Given the description of an element on the screen output the (x, y) to click on. 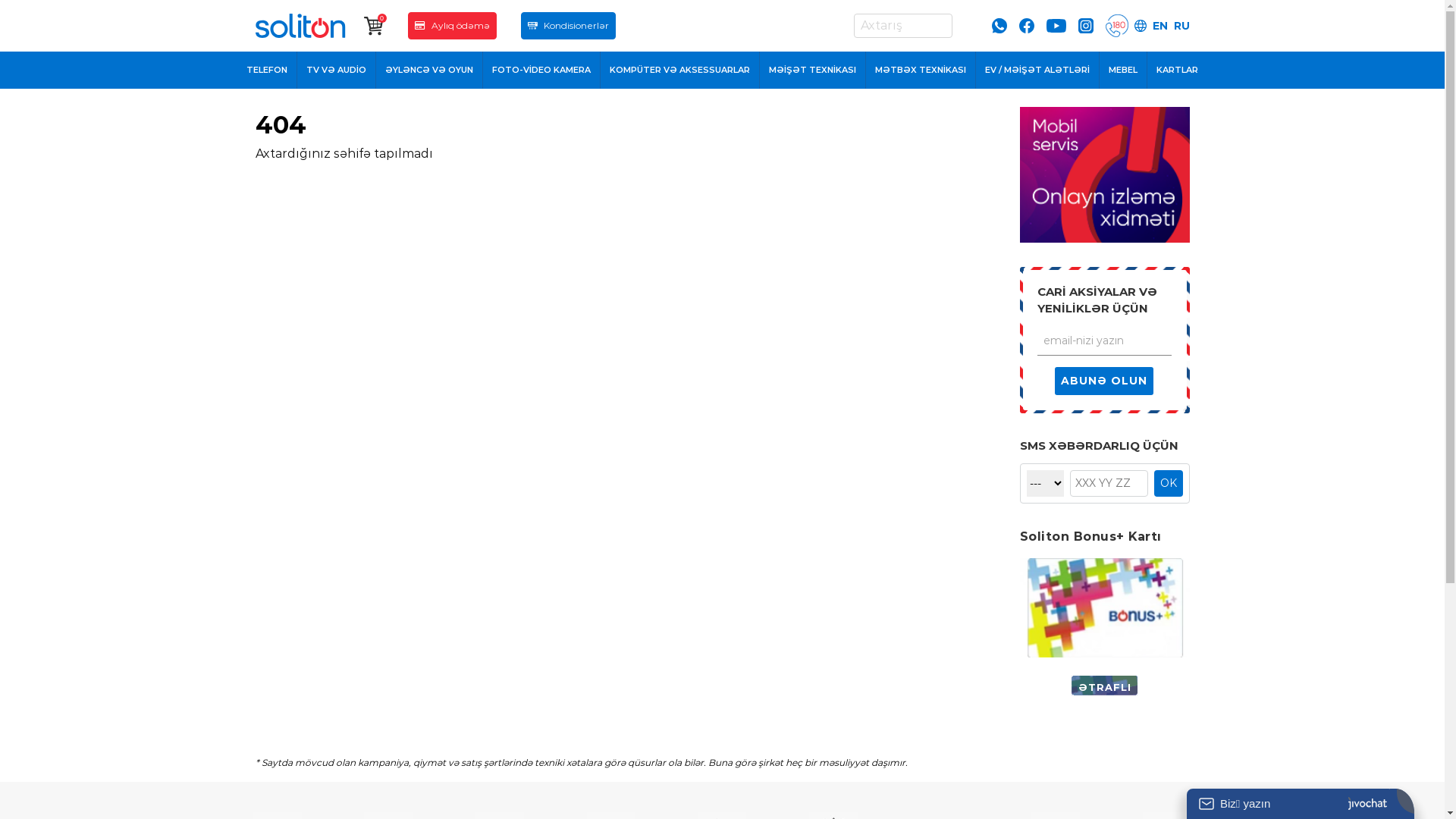
EN Element type: text (1159, 25)
RU Element type: text (1181, 25)
OK Element type: text (1168, 483)
0 Element type: text (373, 25)
TELEFON Element type: text (267, 69)
KARTLAR Element type: text (1177, 69)
MEBEL Element type: text (1123, 69)
